Given the description of an element on the screen output the (x, y) to click on. 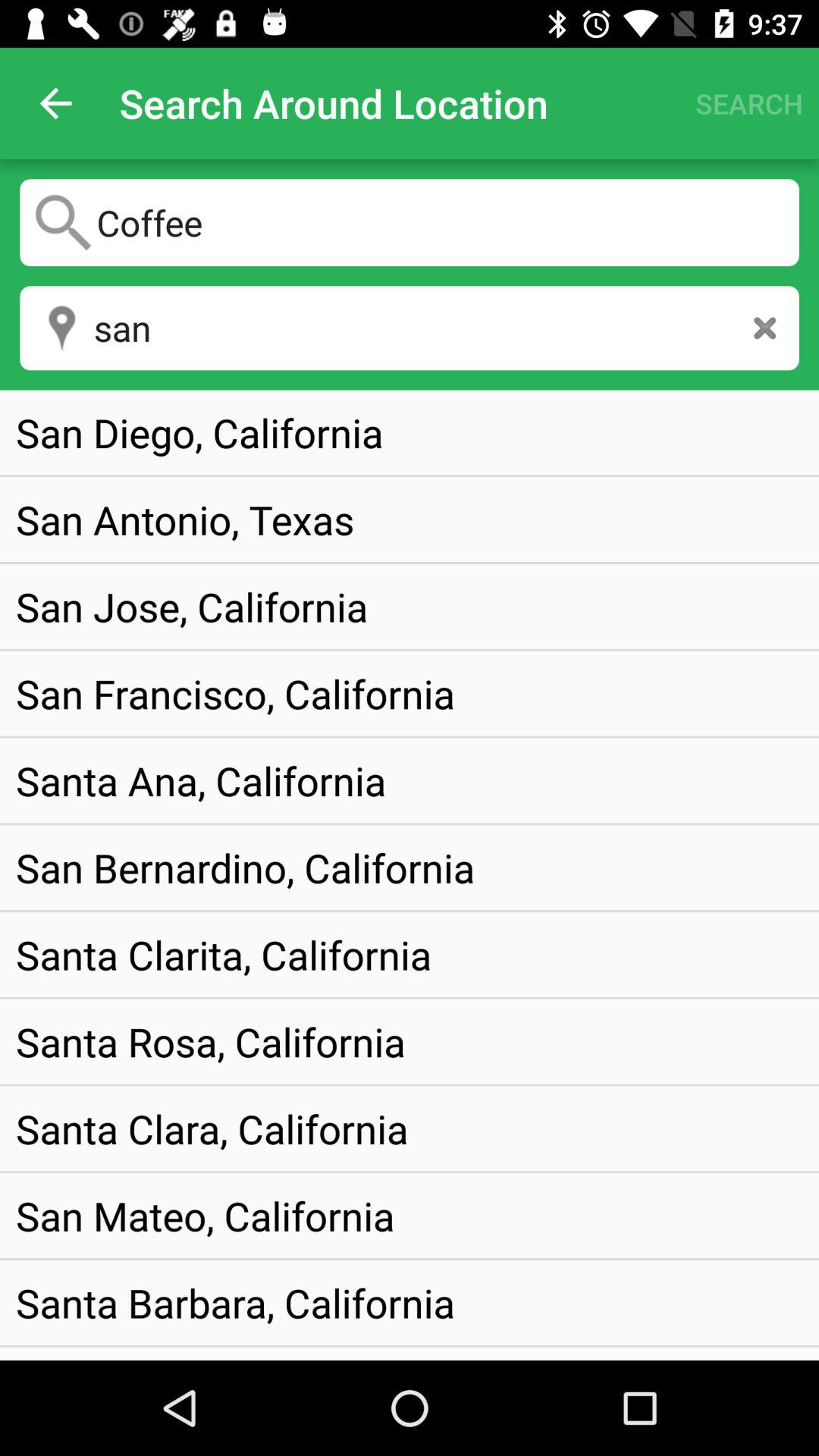
turn on santa clarita, california icon (223, 954)
